Given the description of an element on the screen output the (x, y) to click on. 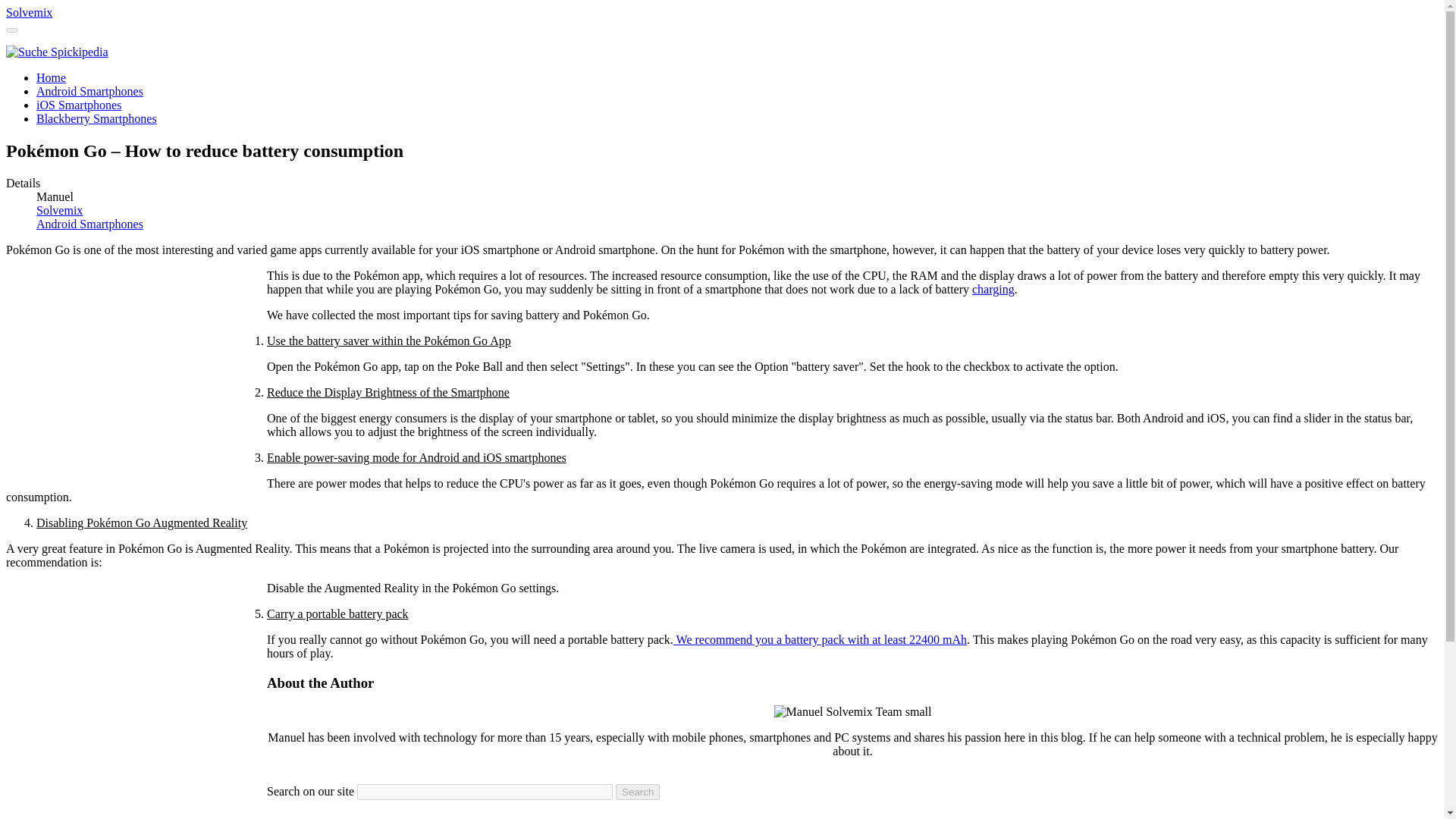
Home (50, 77)
Have a look on these chargers for your smartphone (993, 288)
Blackberry Smartphones (96, 118)
Search (637, 791)
iOS Smartphones (78, 104)
Solvemix (59, 210)
Android Smartphones (89, 223)
Solvemix (28, 11)
We recommend you a battery pack with at least 22400 mAh (819, 639)
Solvemix (28, 11)
charging (993, 288)
Android Smartphones (89, 91)
